Given the description of an element on the screen output the (x, y) to click on. 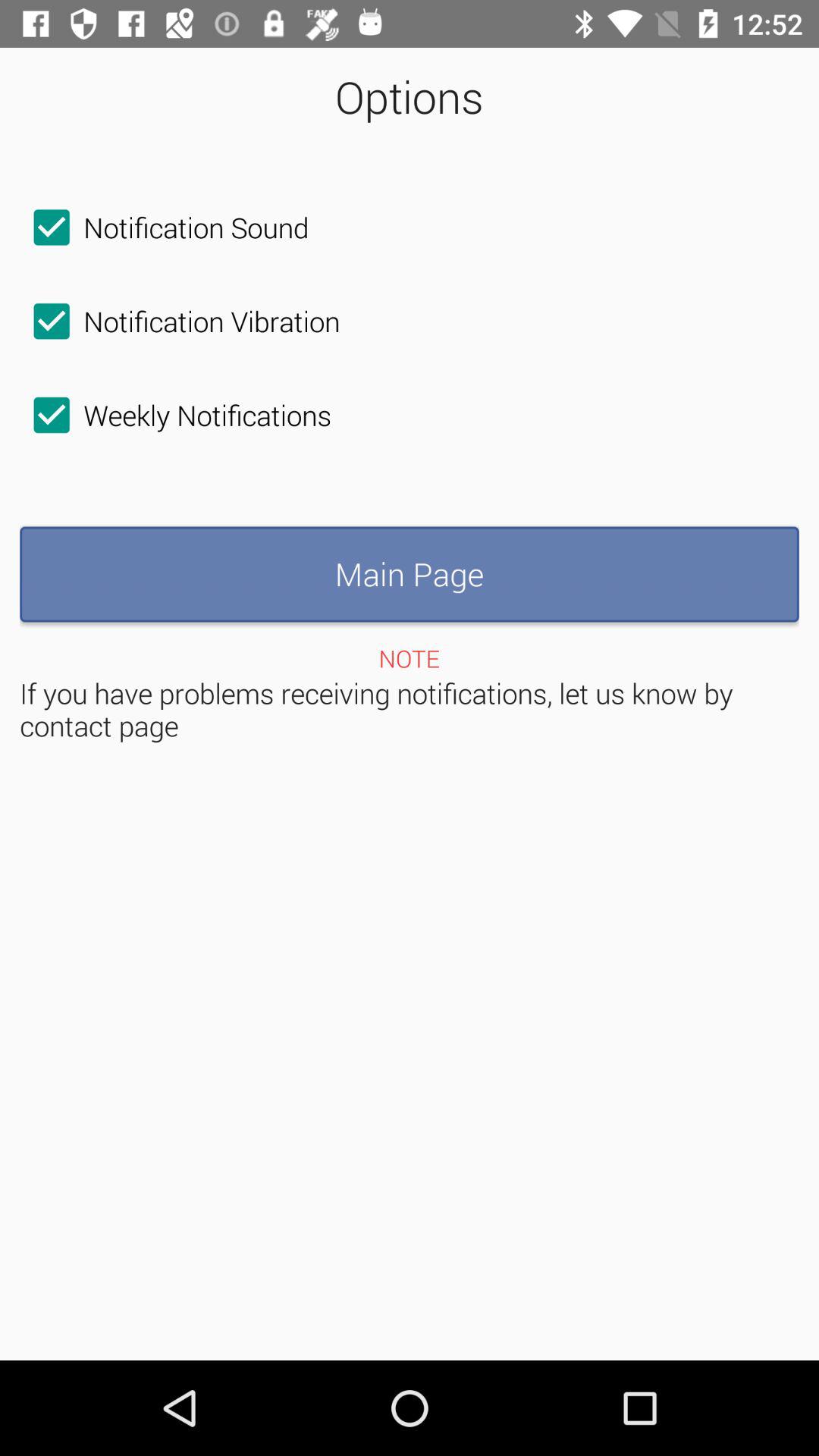
scroll until notification vibration item (179, 321)
